Given the description of an element on the screen output the (x, y) to click on. 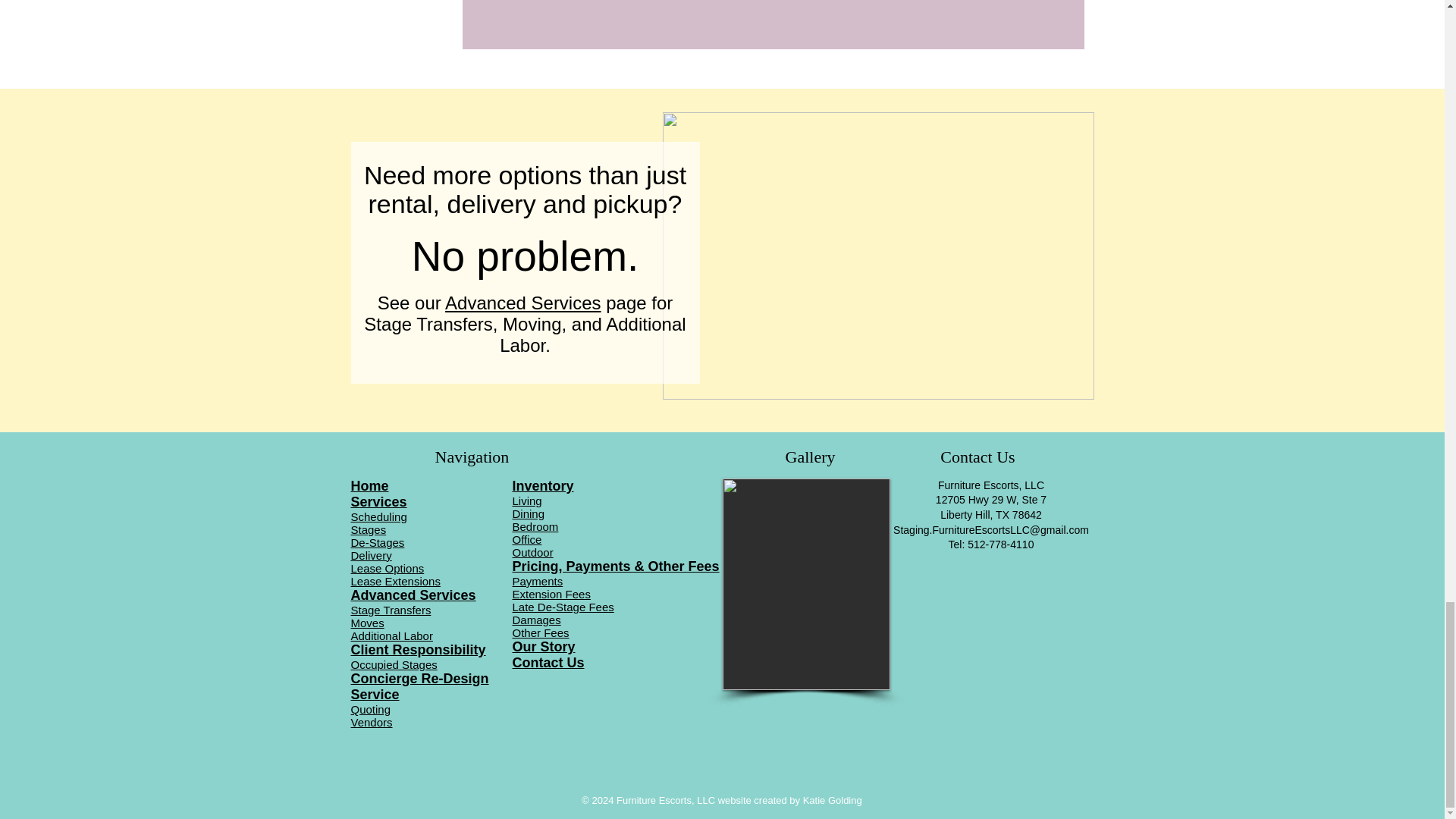
Services (378, 501)
Delivery (370, 554)
De-Stages (377, 542)
No problem. (525, 256)
Home (369, 485)
Scheduling (378, 516)
Stages (367, 529)
Advanced Services (522, 302)
